Given the description of an element on the screen output the (x, y) to click on. 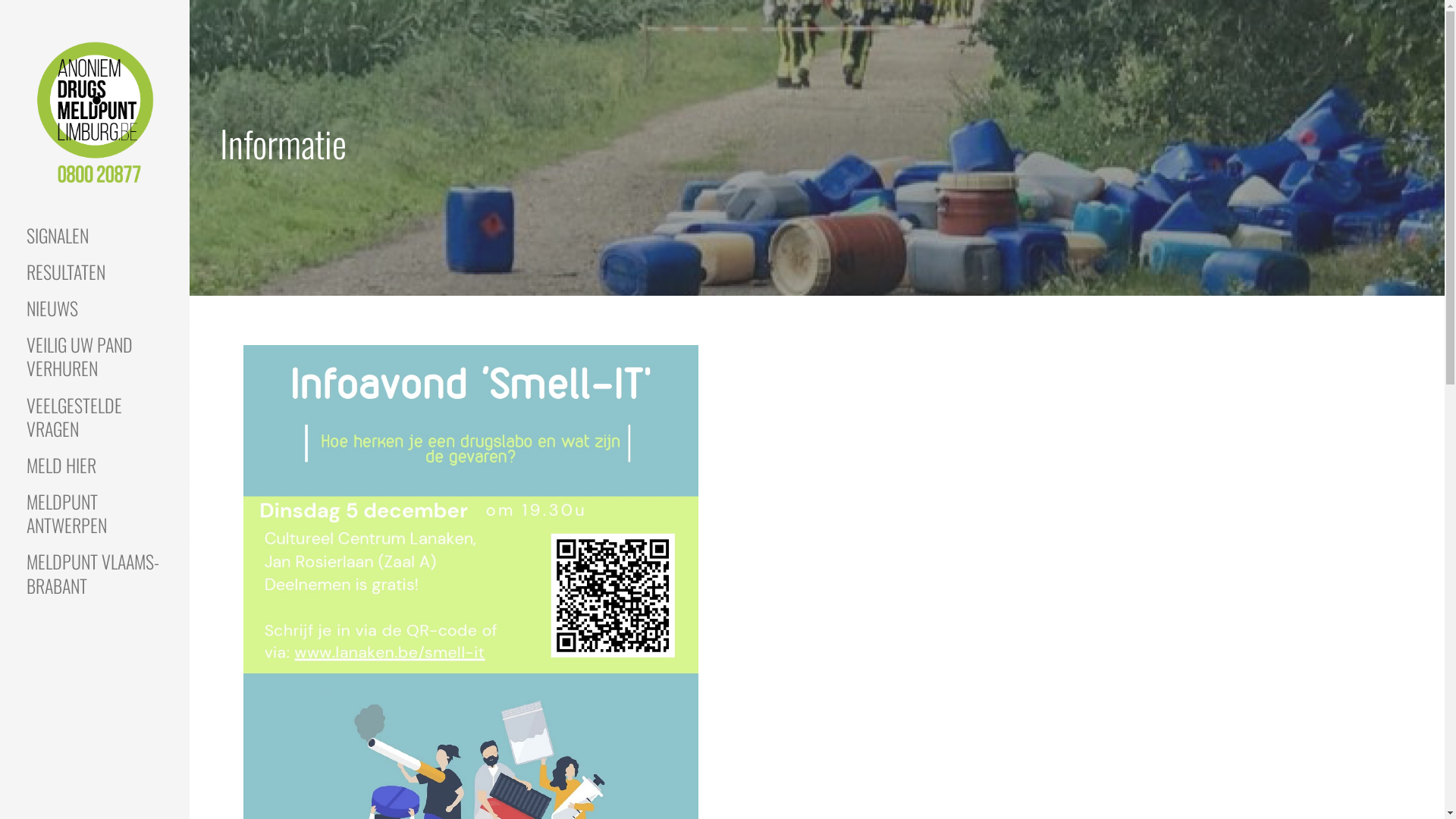
VEILIG UW PAND VERHUREN Element type: text (94, 356)
NIEUWS Element type: text (94, 308)
RESULTATEN Element type: text (94, 272)
MELDPUNT ANTWERPEN Element type: text (94, 513)
MELD HIER Element type: text (94, 465)
MELDPUNT VLAAMS-BRABANT Element type: text (94, 573)
SIGNALEN Element type: text (94, 235)
VEELGESTELDE VRAGEN Element type: text (94, 417)
